Given the description of an element on the screen output the (x, y) to click on. 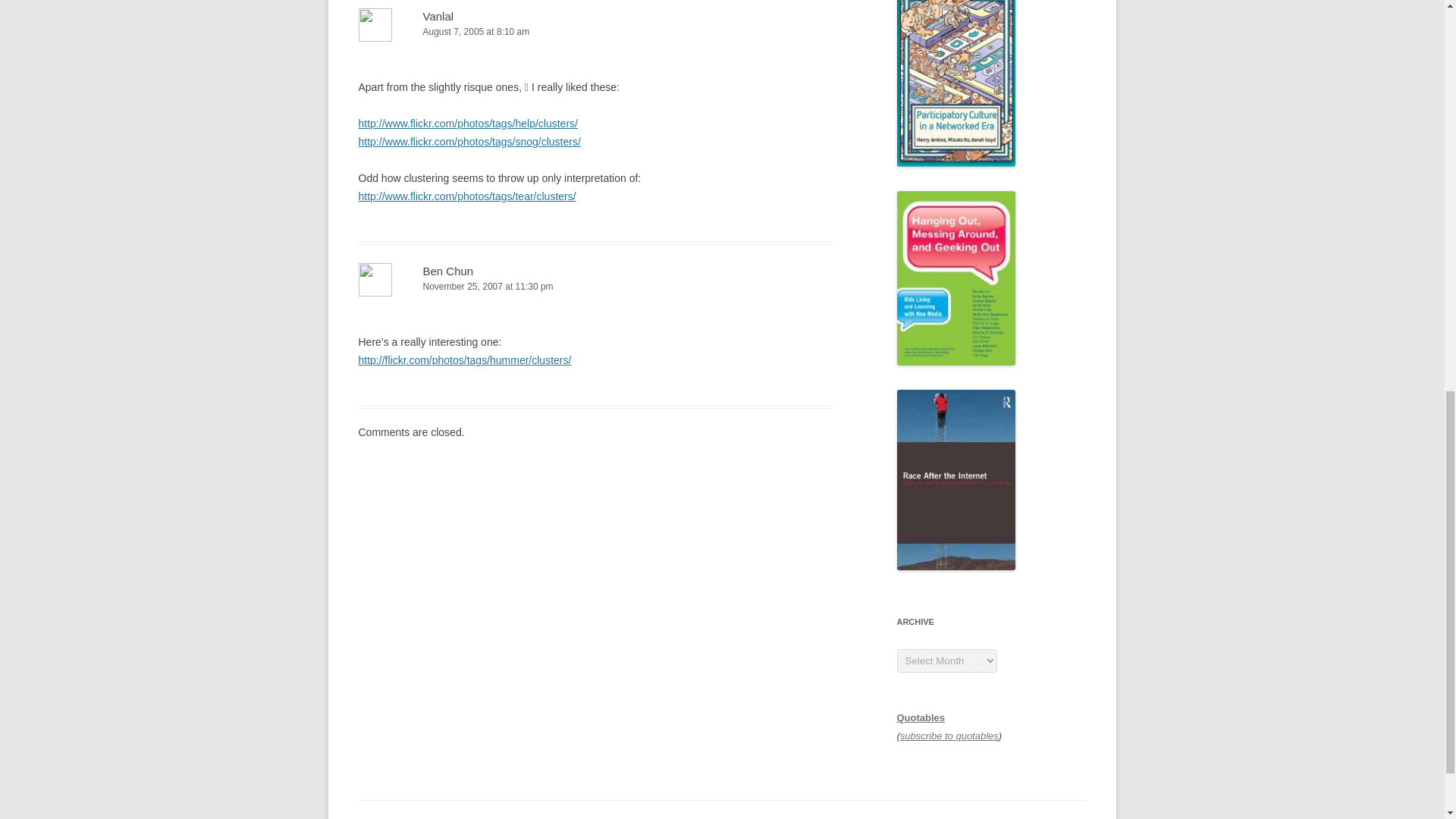
Quotables (920, 717)
August 7, 2005 at 8:10 am (594, 32)
Ben Chun (448, 270)
November 25, 2007 at 11:30 pm (594, 286)
